Given the description of an element on the screen output the (x, y) to click on. 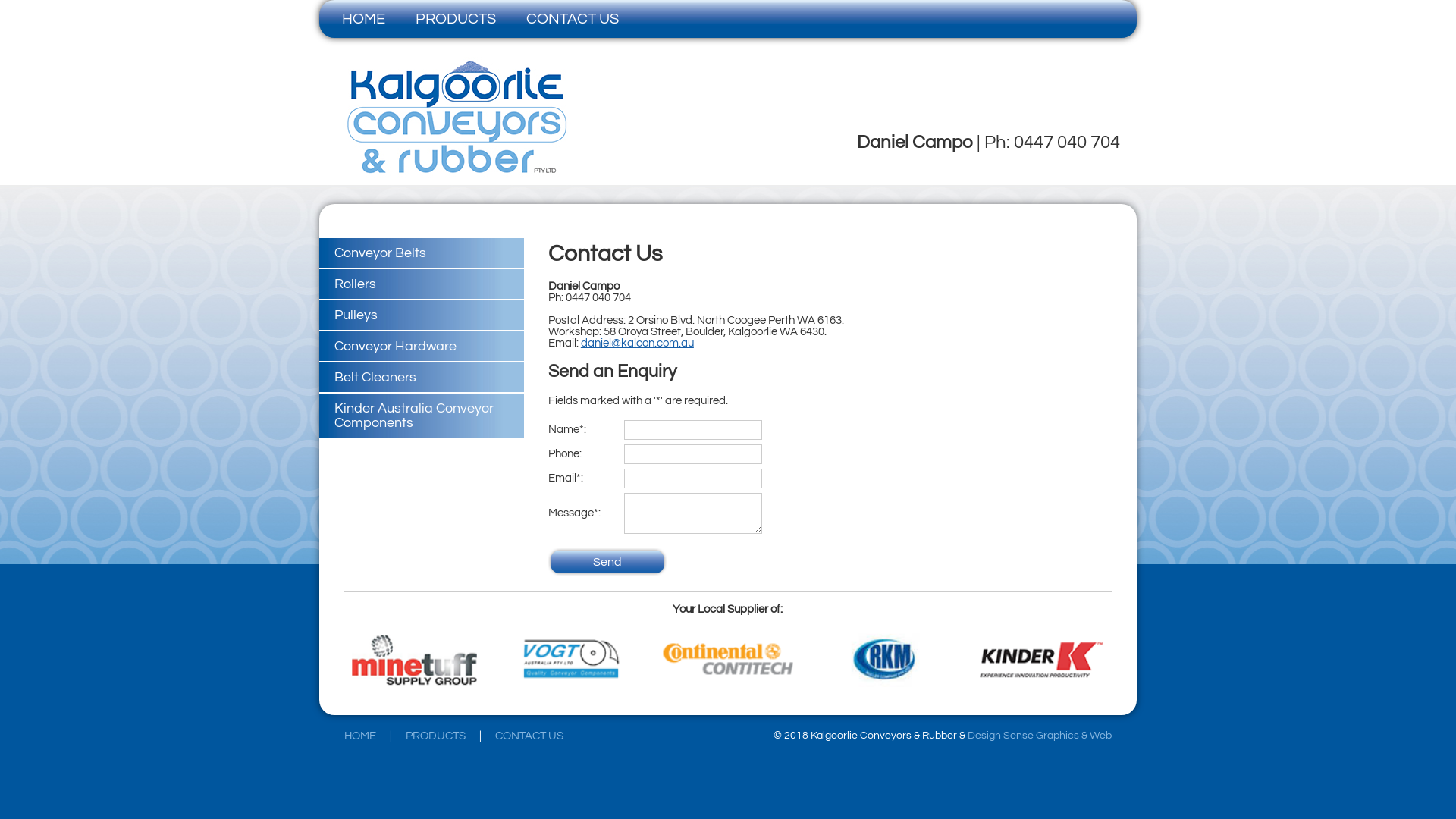
HOME Element type: text (363, 18)
PRODUCTS Element type: text (455, 18)
PRODUCTS Element type: text (435, 735)
Kinder Australia Conveyor Components Element type: text (421, 415)
HOME Element type: text (360, 735)
Send Element type: text (607, 561)
Conveyor Belts Element type: text (421, 252)
Rollers Element type: text (421, 283)
Pulleys Element type: text (421, 314)
CONTACT US Element type: text (572, 18)
daniel@kalcon.com.au Element type: text (636, 342)
CONTACT US Element type: text (529, 735)
Design Sense Graphics & Web Element type: text (1039, 735)
Conveyor Hardware Element type: text (421, 345)
Belt Cleaners Element type: text (421, 377)
